Given the description of an element on the screen output the (x, y) to click on. 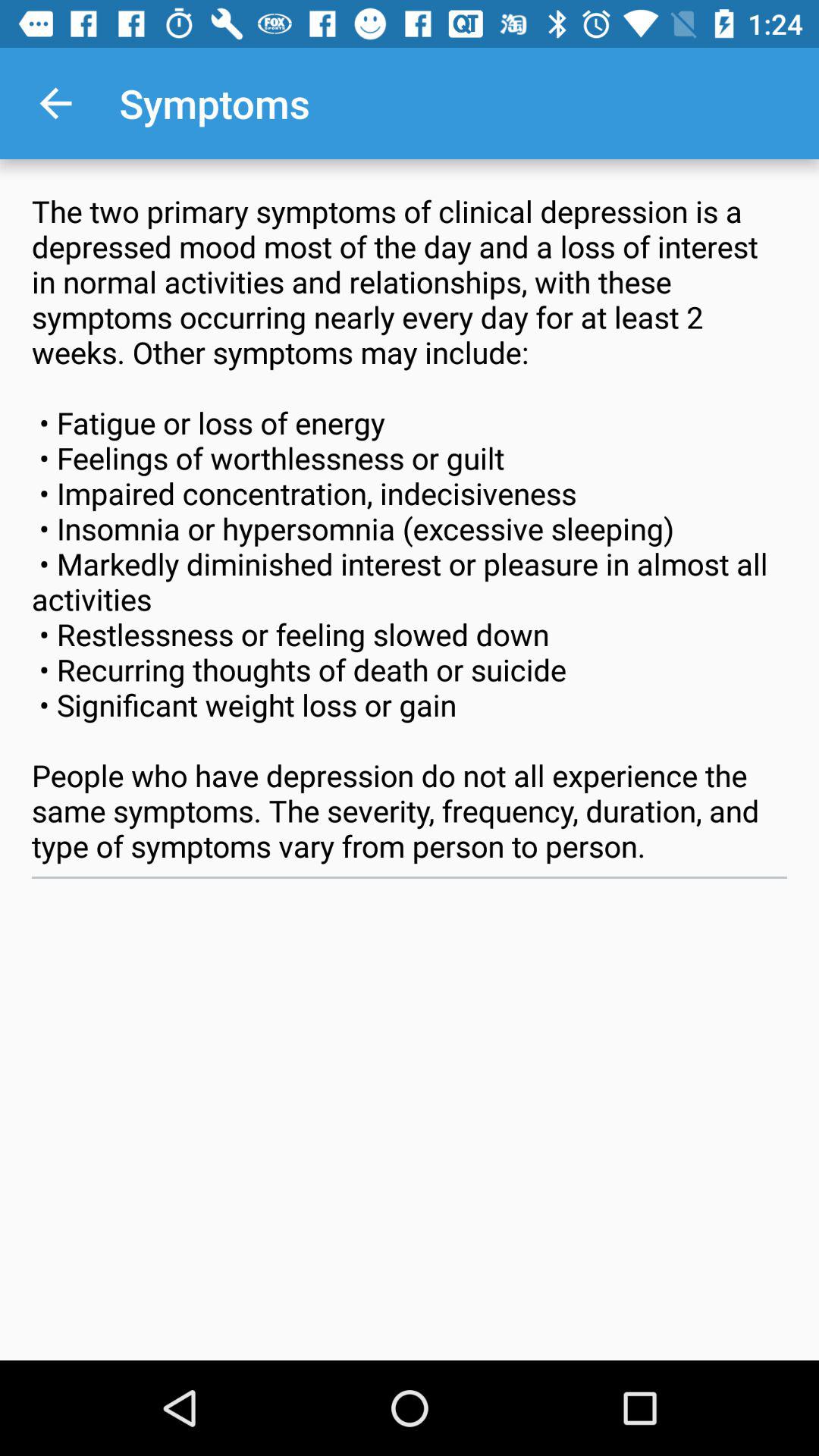
turn off item next to the symptoms (55, 103)
